Given the description of an element on the screen output the (x, y) to click on. 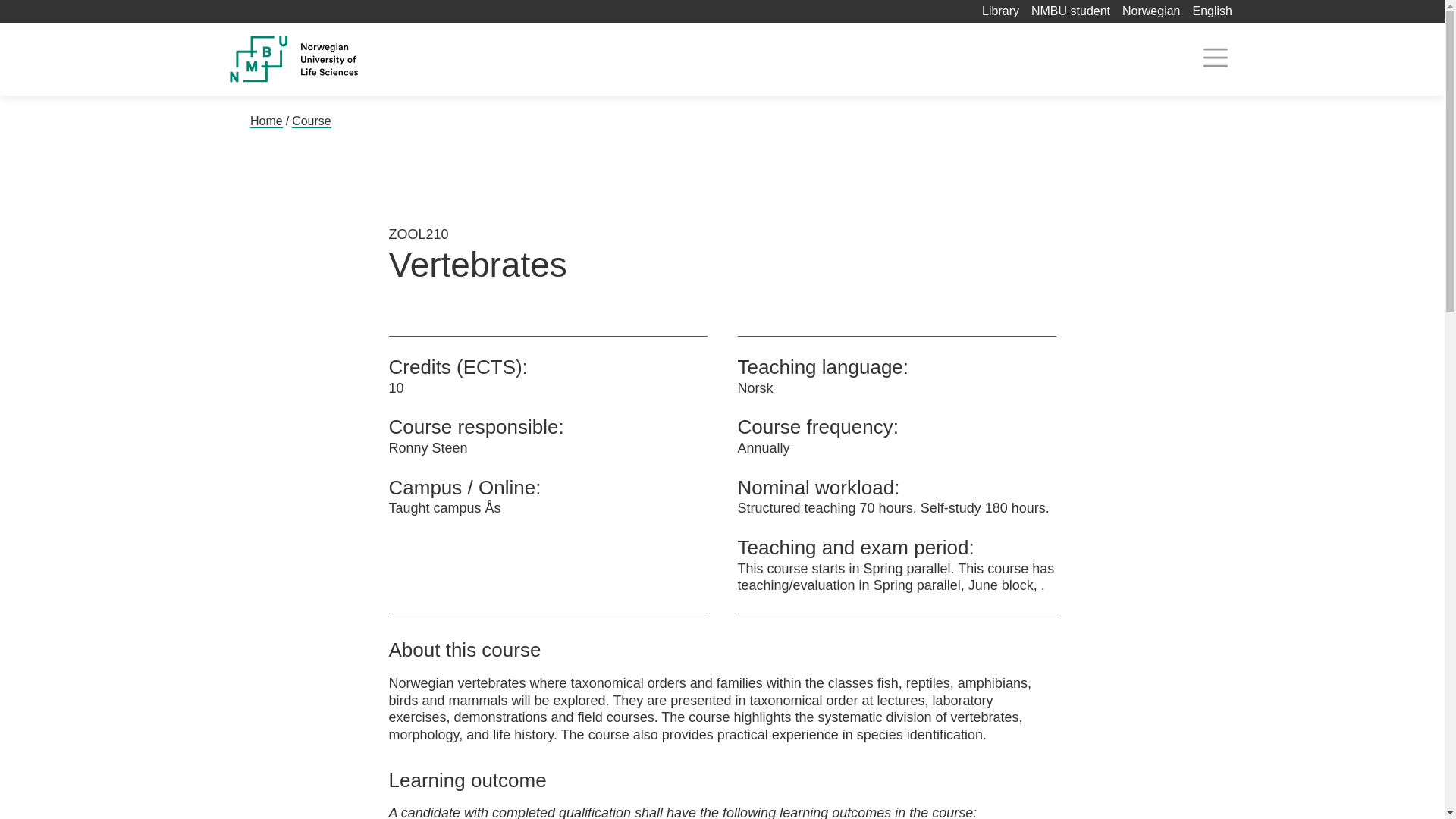
Norwegian (1150, 10)
NMBU student (1069, 10)
Library (1000, 10)
English (1211, 10)
NMBU (328, 59)
Menu (1214, 57)
Course (311, 120)
Home (266, 120)
